Given the description of an element on the screen output the (x, y) to click on. 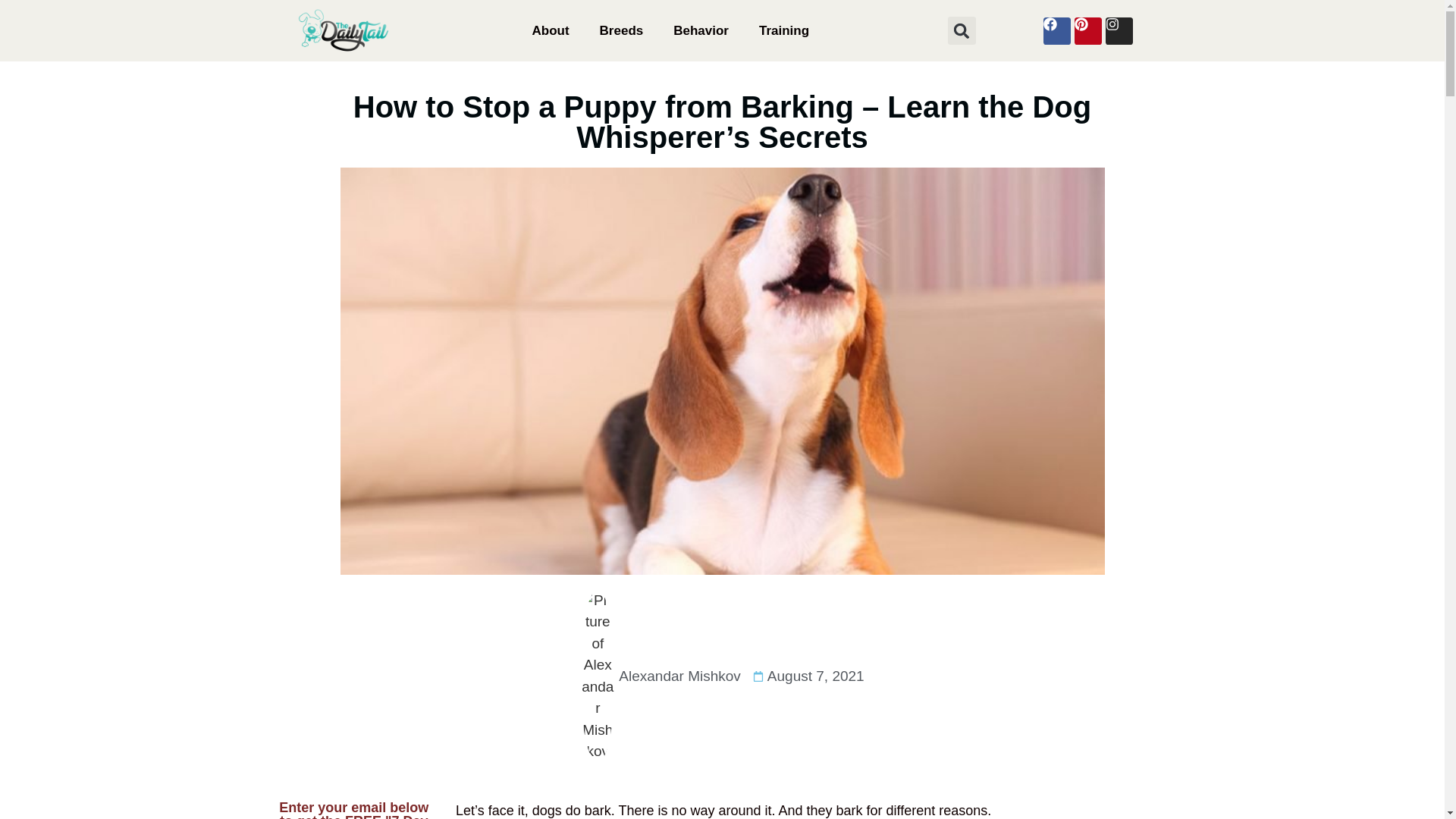
About (550, 30)
Training (784, 30)
Breeds (622, 30)
Behavior (701, 30)
